Given the description of an element on the screen output the (x, y) to click on. 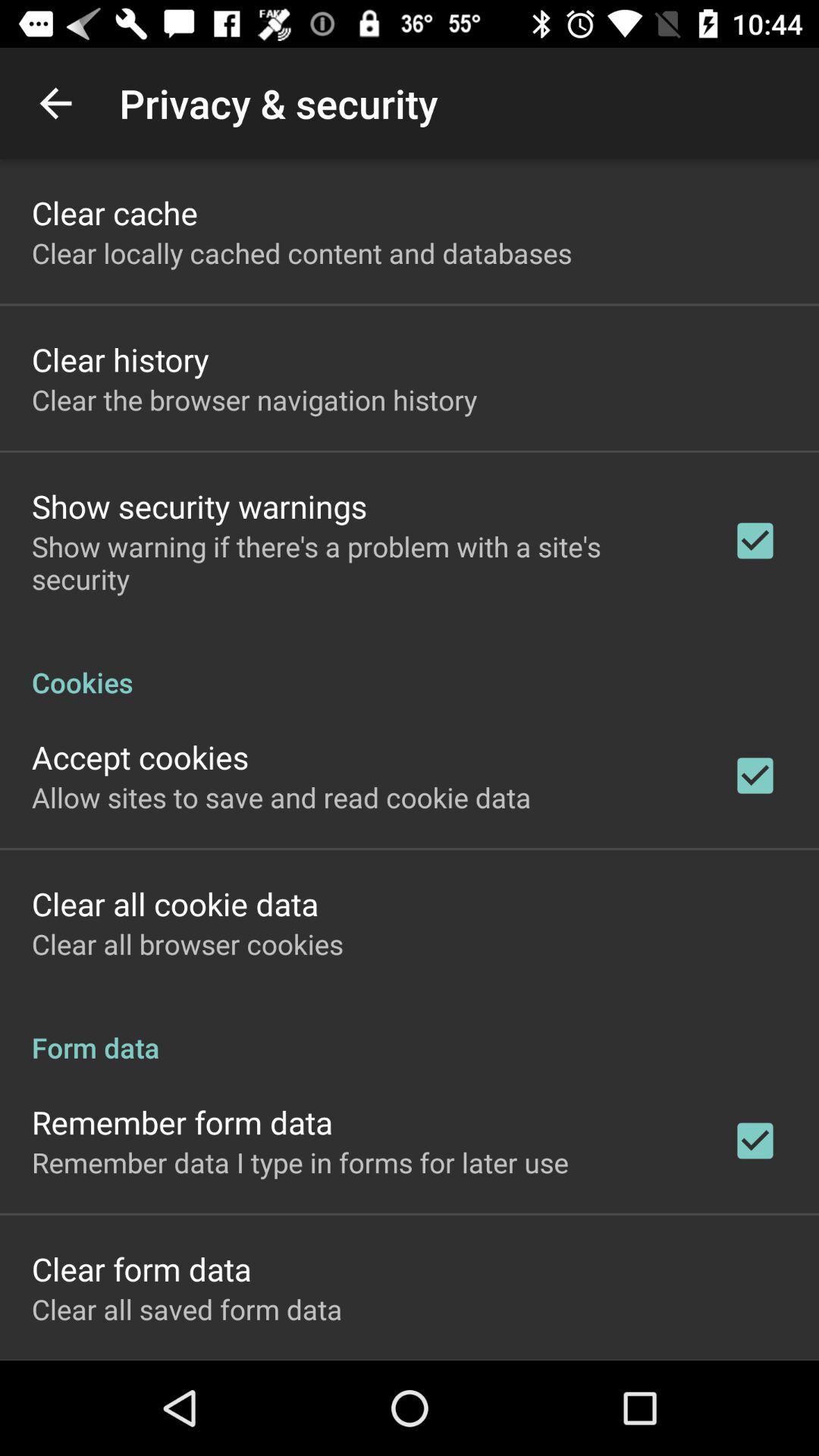
select clear cache item (114, 212)
